Given the description of an element on the screen output the (x, y) to click on. 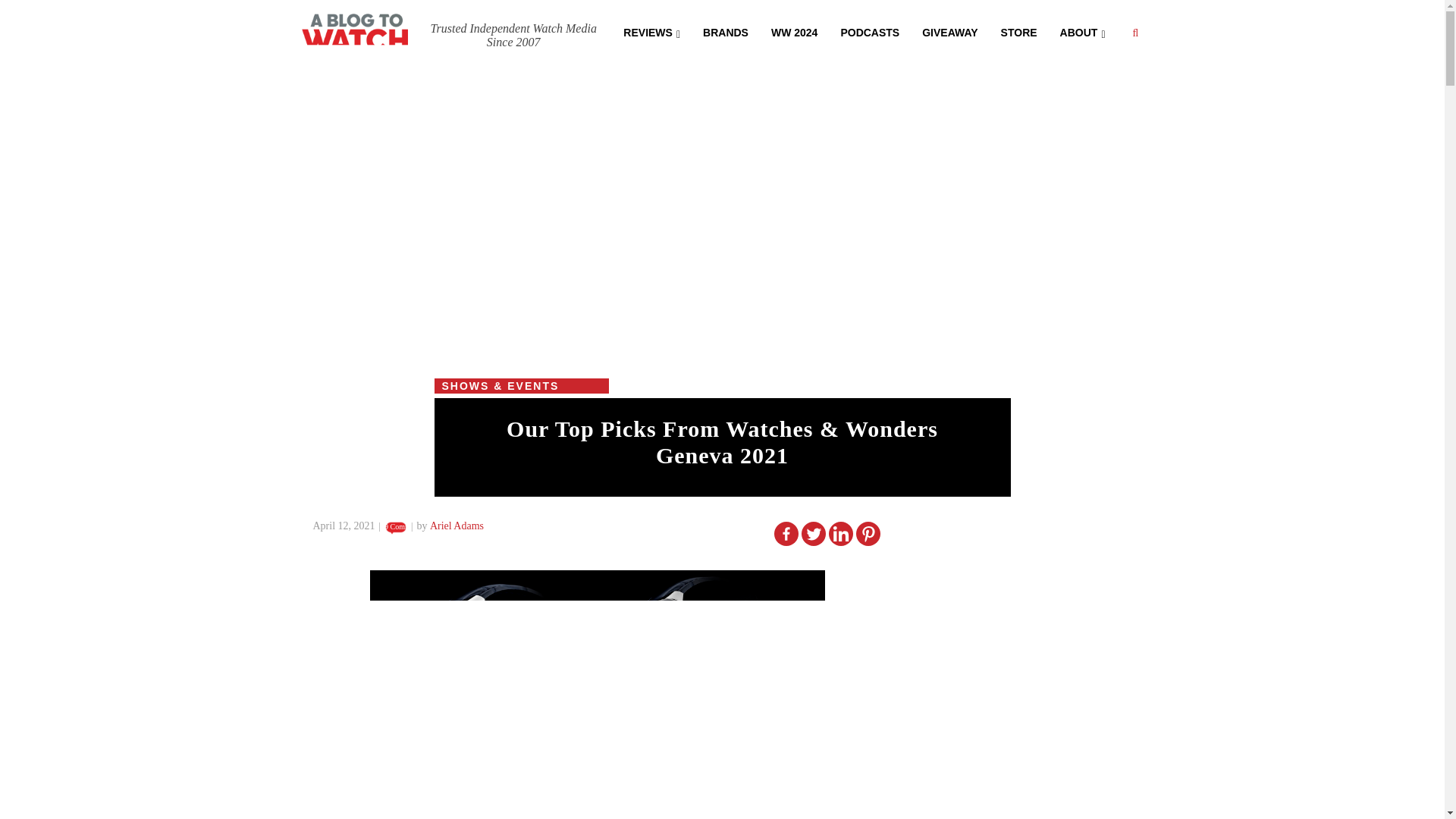
WW 2024 (794, 31)
GIVEAWAY (949, 31)
Guides to help you when buying watches (794, 31)
ABOUT (1082, 31)
Linkedin (839, 533)
BRANDS (725, 31)
PODCASTS (869, 31)
REVIEWS (651, 31)
Wrist Time Watch Reviews (651, 31)
STORE (1019, 31)
